Given the description of an element on the screen output the (x, y) to click on. 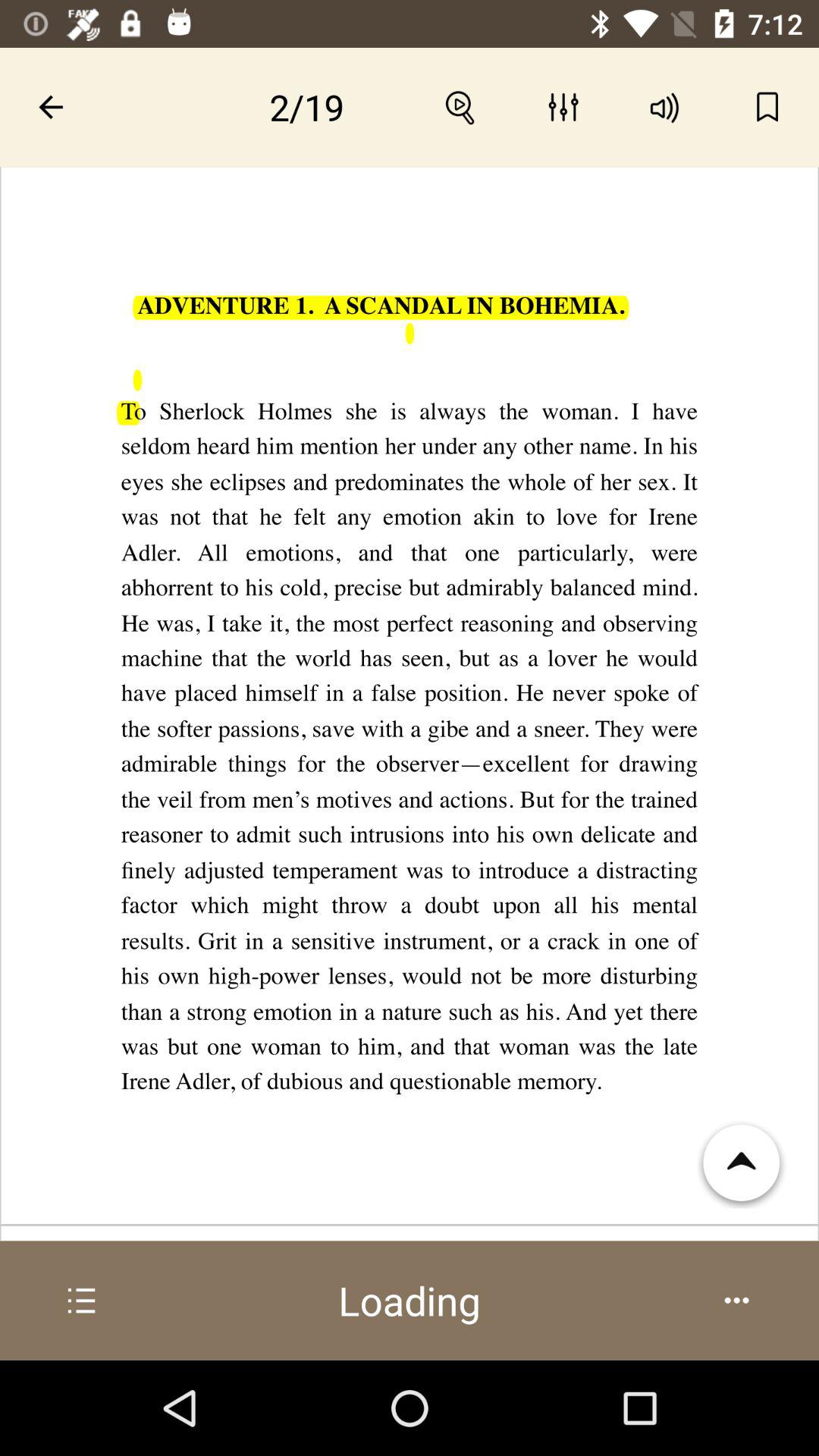
click to search option (460, 106)
